Given the description of an element on the screen output the (x, y) to click on. 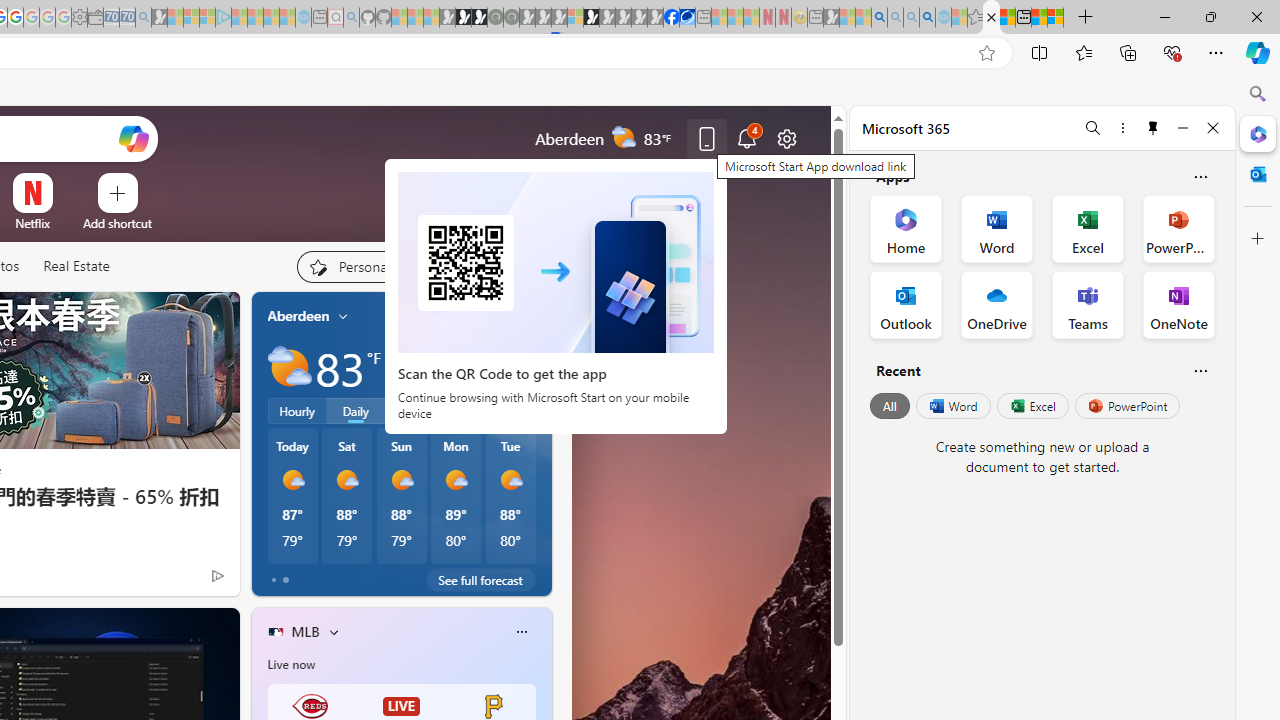
OneDrive Office App (996, 304)
Play Zoo Boom in your browser | Games from Microsoft Start (463, 17)
Excel (1031, 406)
Mostly sunny (510, 479)
OneNote Office App (1178, 304)
Home Office App (906, 228)
All (890, 406)
Personalize your feed" (356, 266)
